Given the description of an element on the screen output the (x, y) to click on. 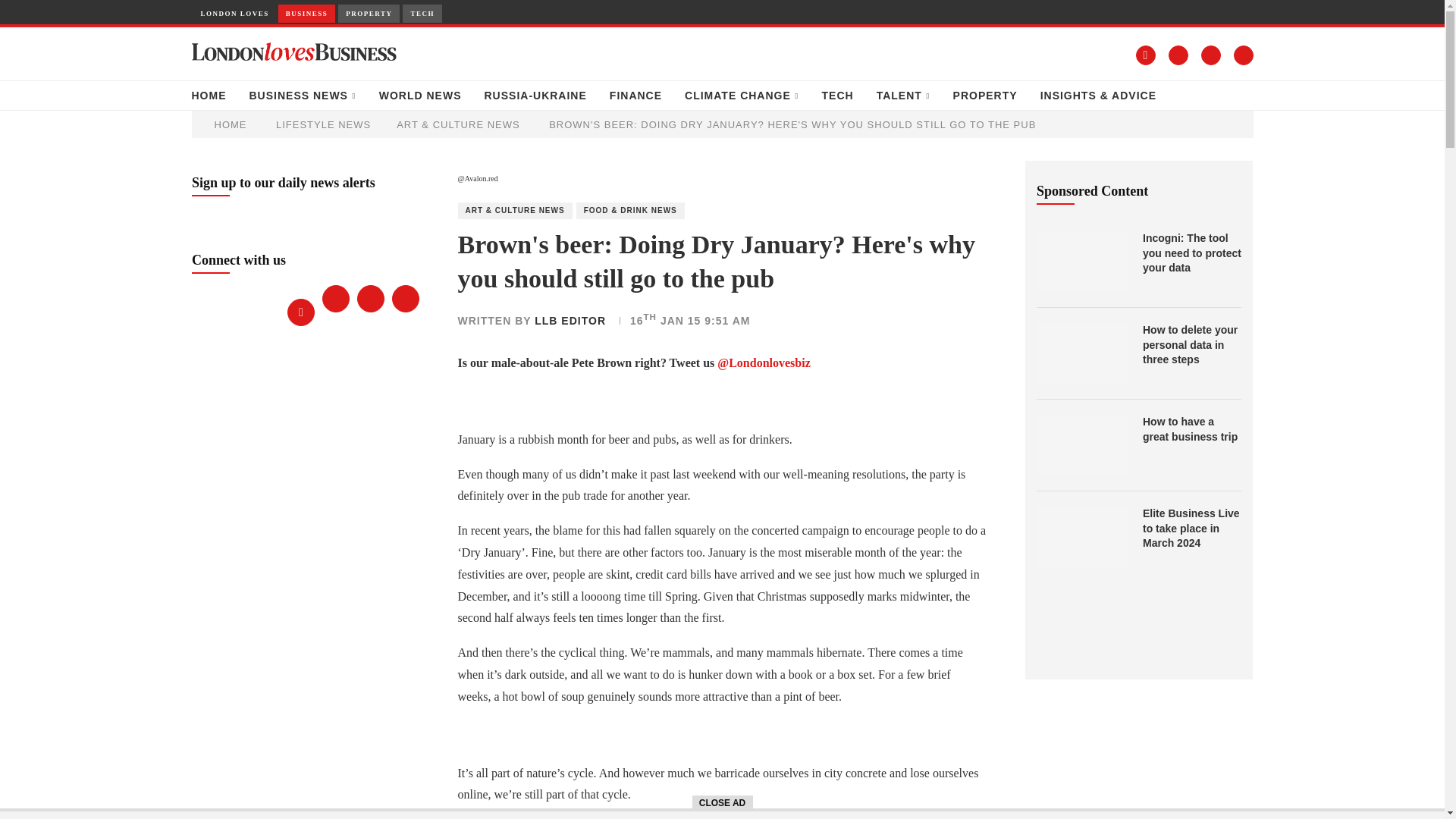
How to delete your personal data in three steps (1191, 344)
Incogni: The tool you need to protect your data (1081, 260)
Incogni: The tool you need to protect your data (1191, 253)
How to have a great business trip (1081, 444)
How to delete your personal data in three steps (1081, 353)
